Given the description of an element on the screen output the (x, y) to click on. 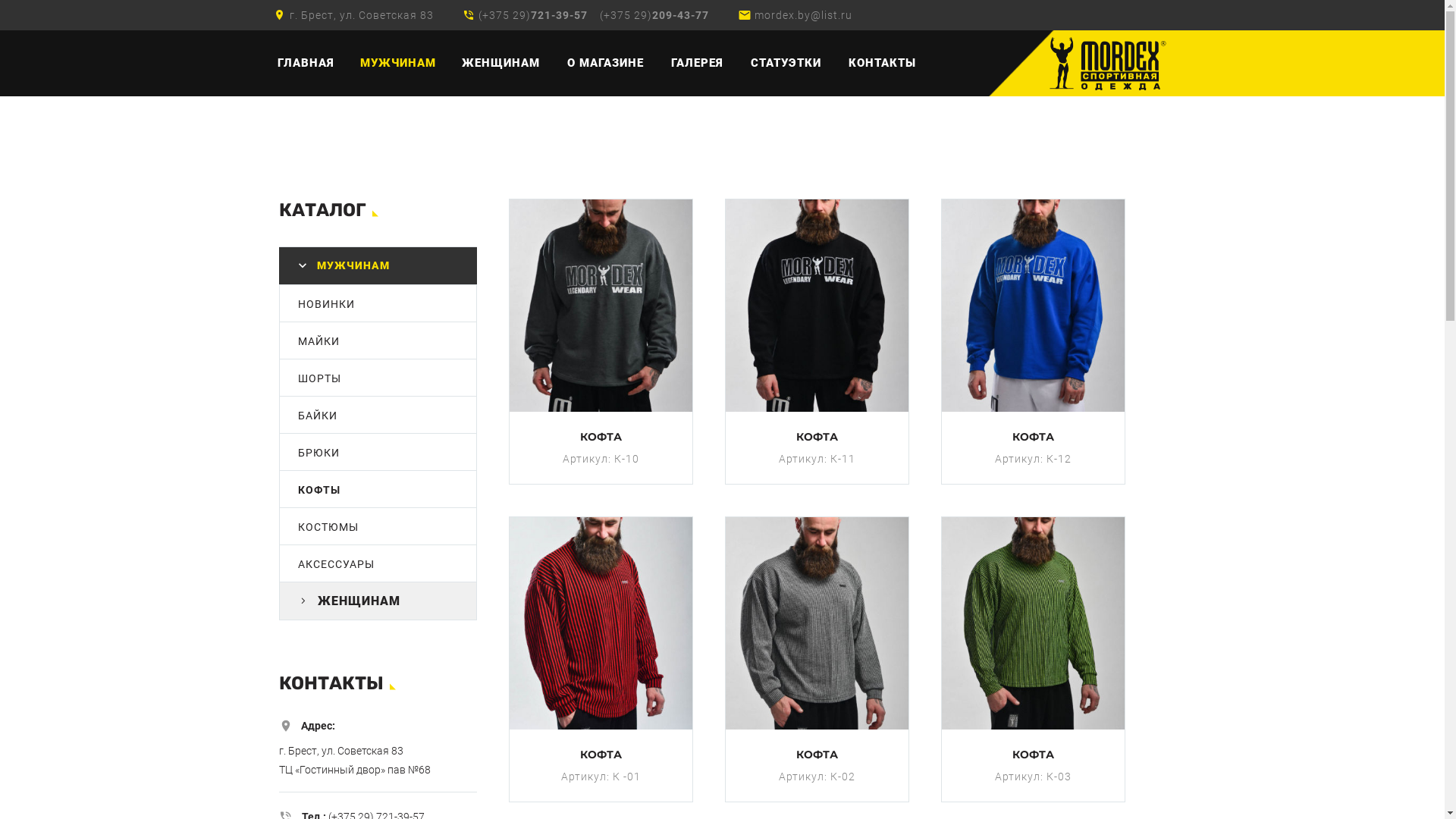
mordex.by@list.ru Element type: text (803, 15)
